Given the description of an element on the screen output the (x, y) to click on. 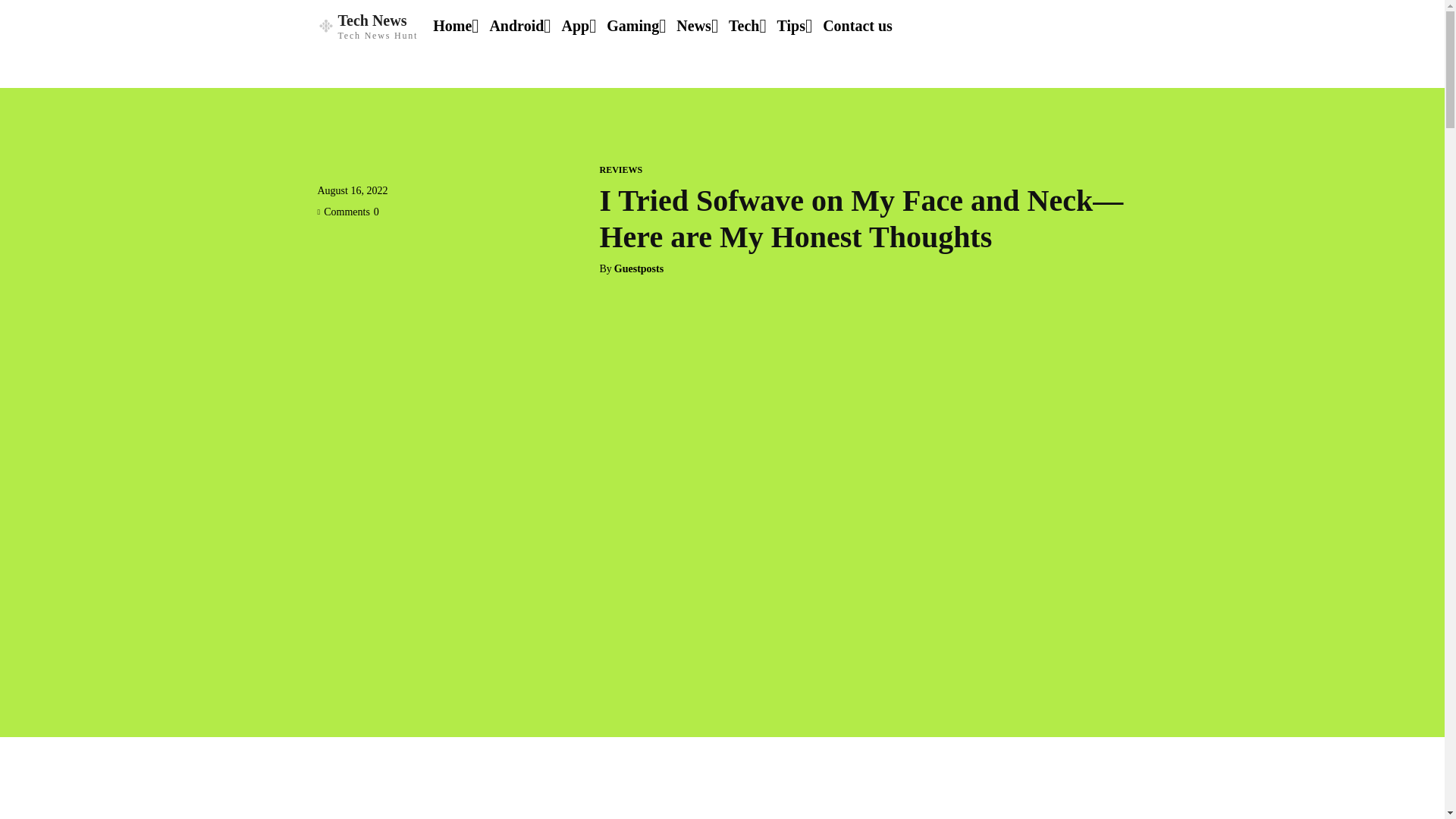
REVIEWS (620, 169)
Home (367, 25)
News (451, 25)
Contact us (694, 25)
Guestposts (857, 25)
Comments0 (638, 269)
Android (347, 211)
Gaming (516, 25)
